Given the description of an element on the screen output the (x, y) to click on. 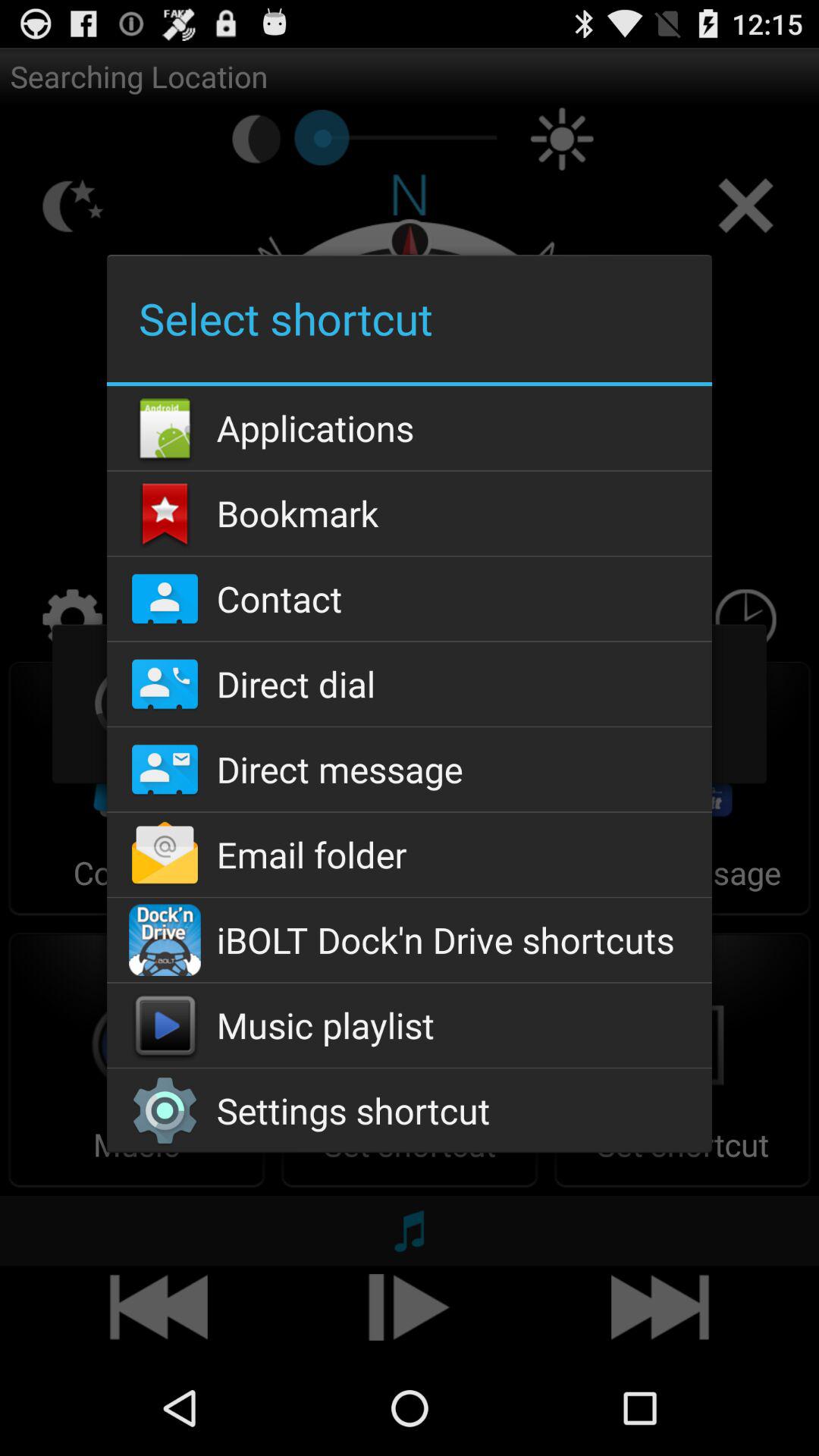
turn off the direct dial icon (409, 684)
